Given the description of an element on the screen output the (x, y) to click on. 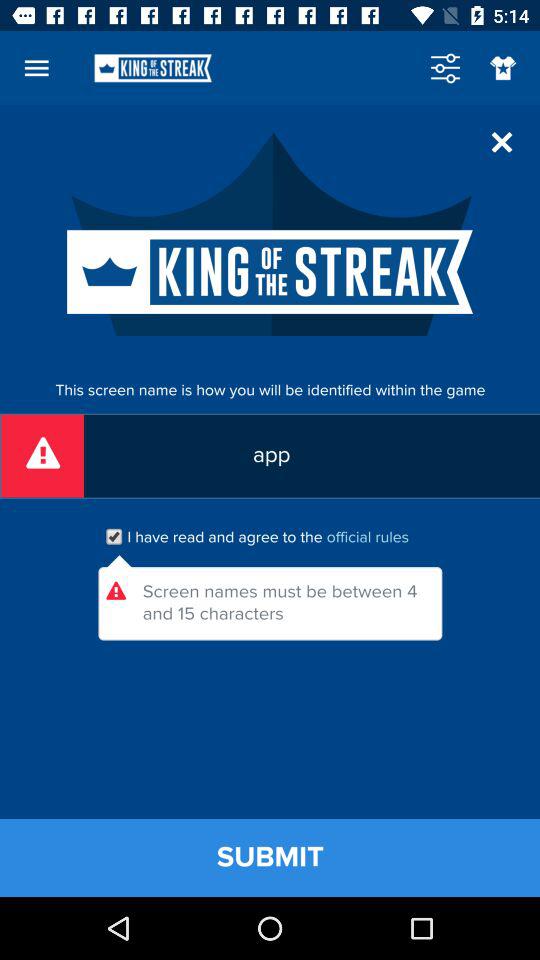
go to storage (445, 68)
